Given the description of an element on the screen output the (x, y) to click on. 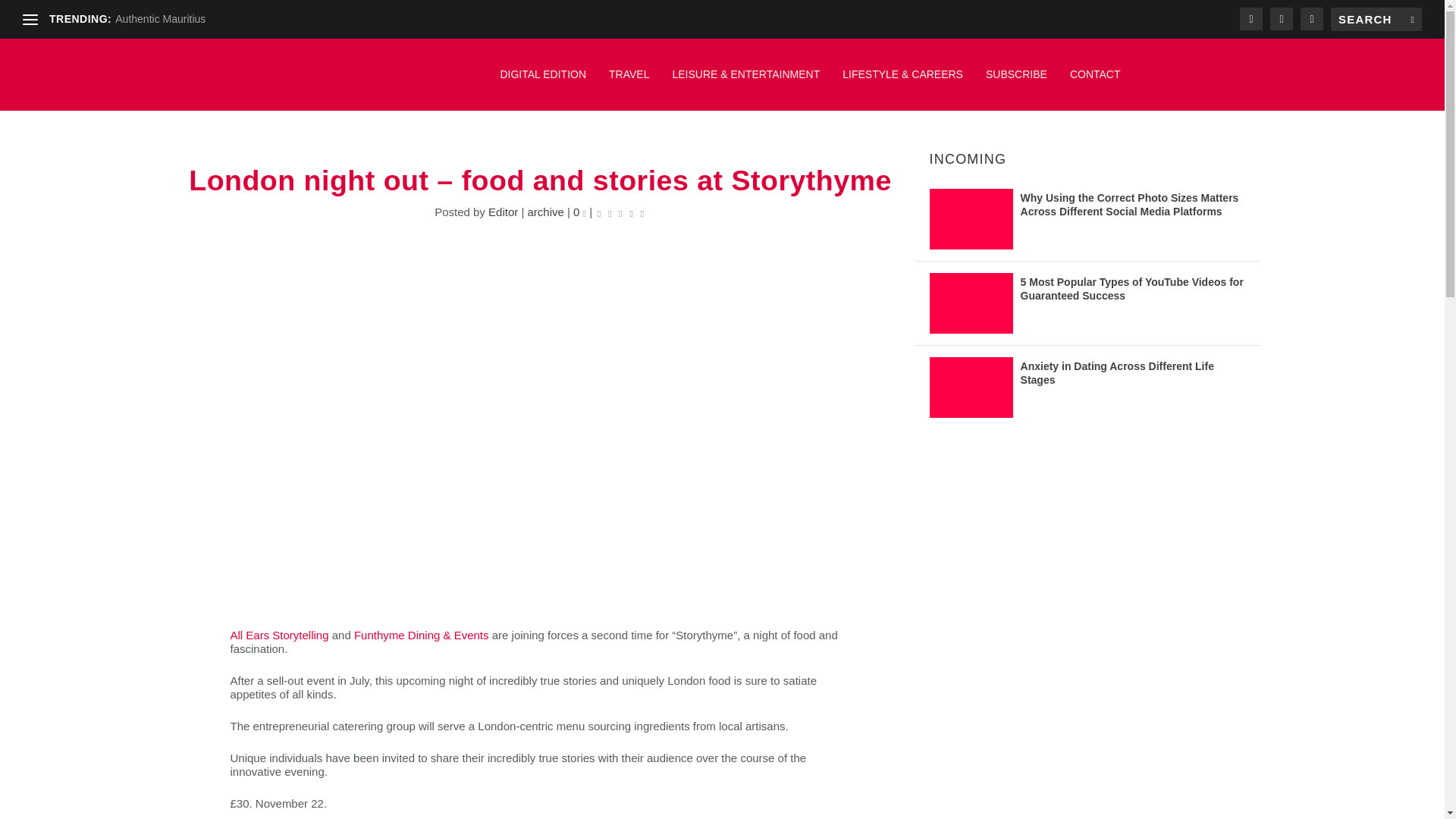
archive (545, 211)
Rating: 0.00 (620, 212)
Posts by Editor (502, 211)
All Ears Storytelling (279, 634)
Authentic Mauritius (160, 19)
SUBSCRIBE (1015, 82)
Editor (502, 211)
DIGITAL EDITION (542, 82)
Search for: (1376, 19)
0 (579, 211)
